Given the description of an element on the screen output the (x, y) to click on. 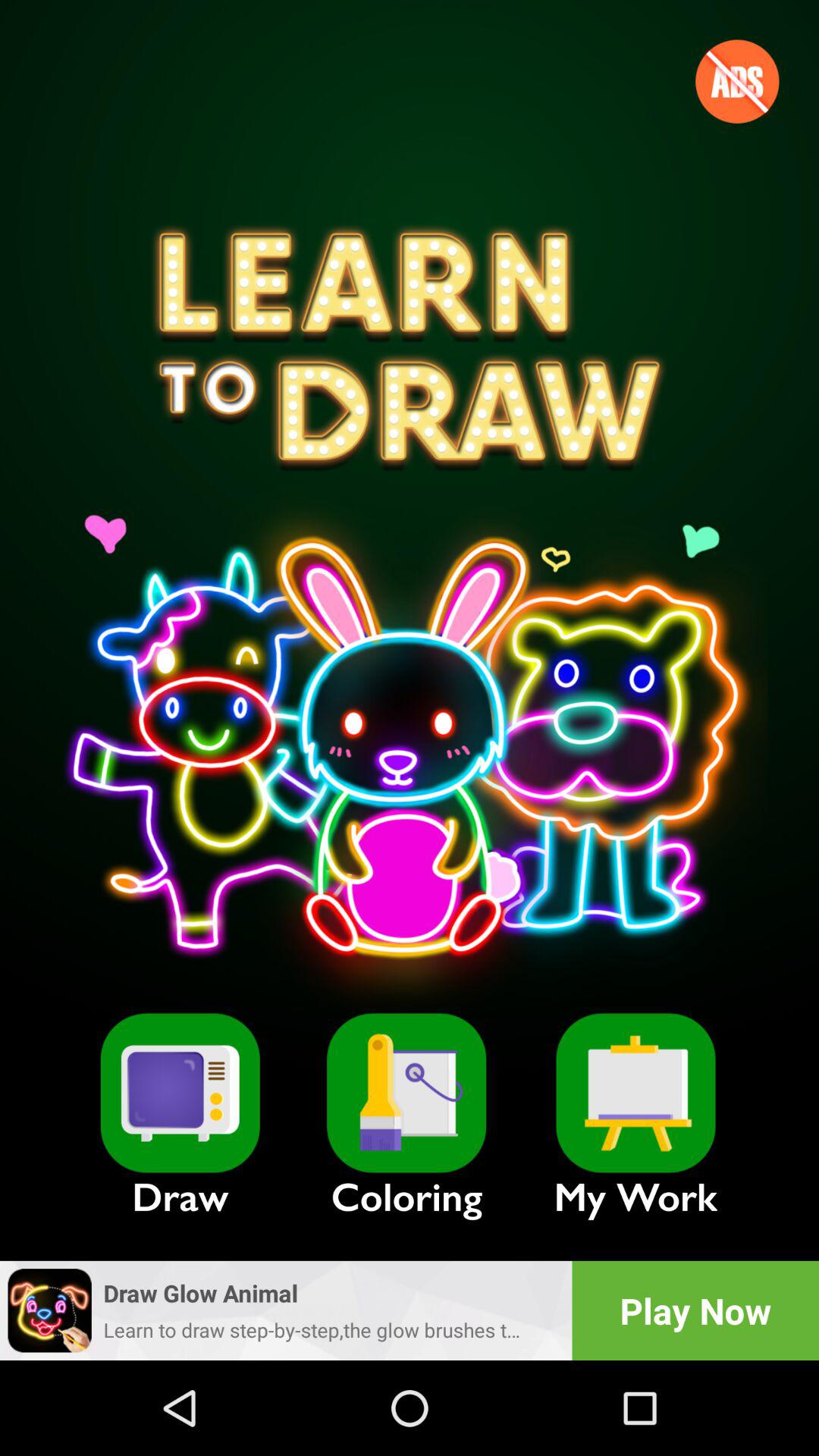
to see the schedule (635, 1092)
